Given the description of an element on the screen output the (x, y) to click on. 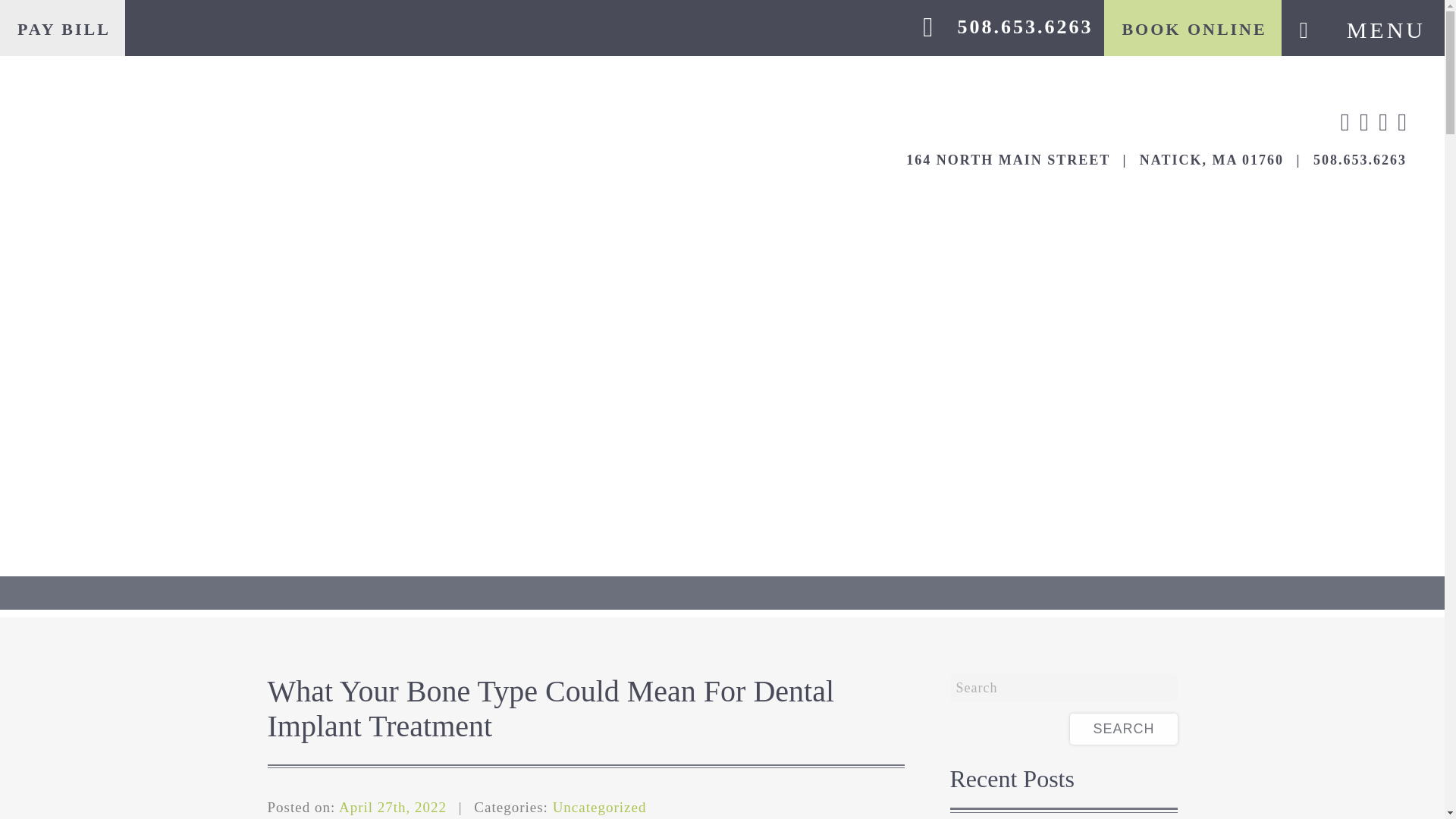
BOOK ONLINE (1192, 29)
PAY BILL (62, 29)
April 27th, 2022 (392, 806)
Search (1123, 728)
Search (1123, 728)
Uncategorized (599, 806)
Search (1062, 687)
508.653.6263 (1024, 26)
